Given the description of an element on the screen output the (x, y) to click on. 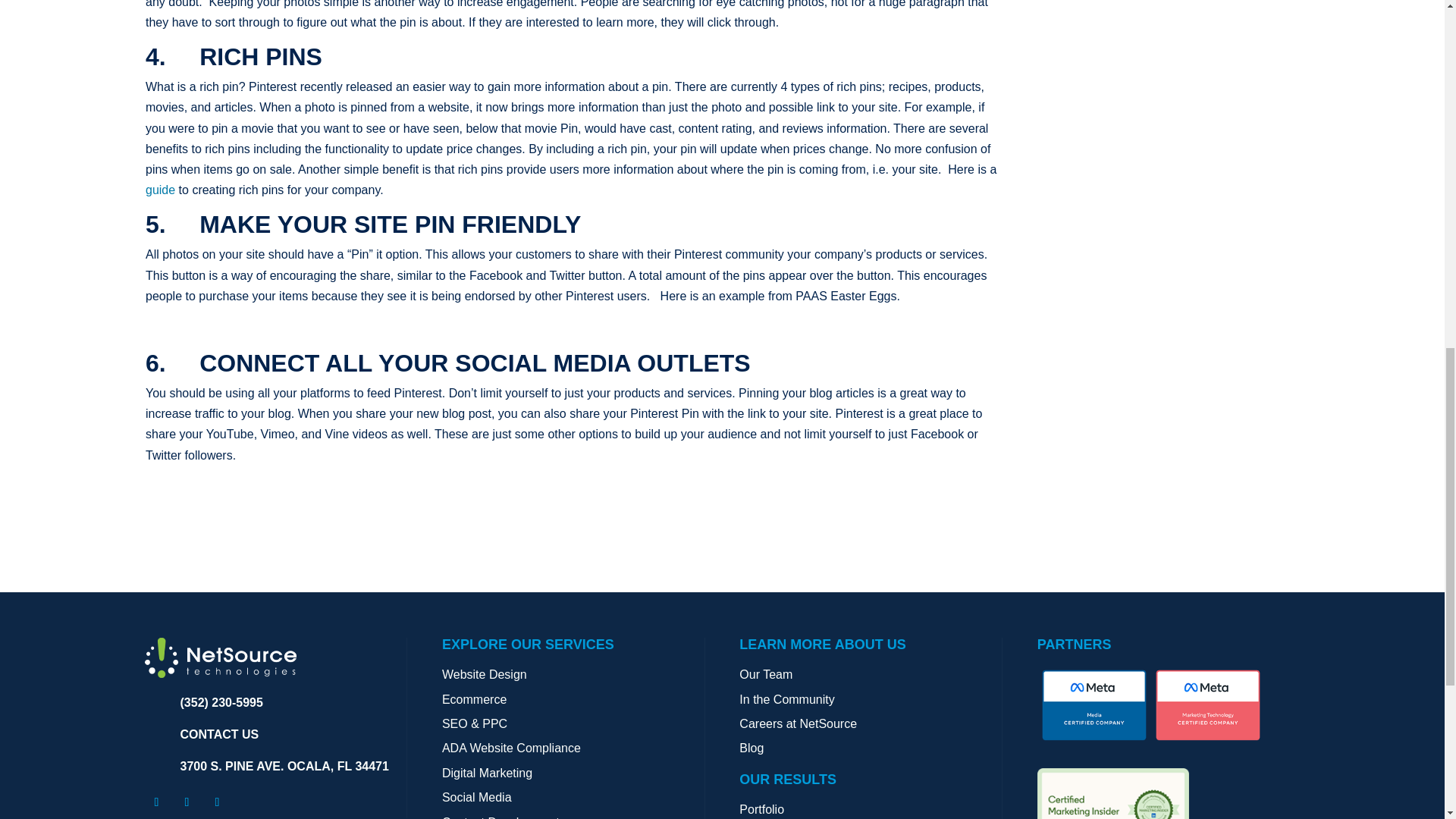
ADA Website Compliance (511, 748)
ADA Website Compliance (511, 748)
Ecommerce (474, 698)
Social Media (477, 797)
Social Media (477, 797)
Digital Marketing (487, 772)
Digital Marketing (487, 772)
CONTACT US (219, 734)
Follow on X (186, 802)
Our Team (765, 674)
